Given the description of an element on the screen output the (x, y) to click on. 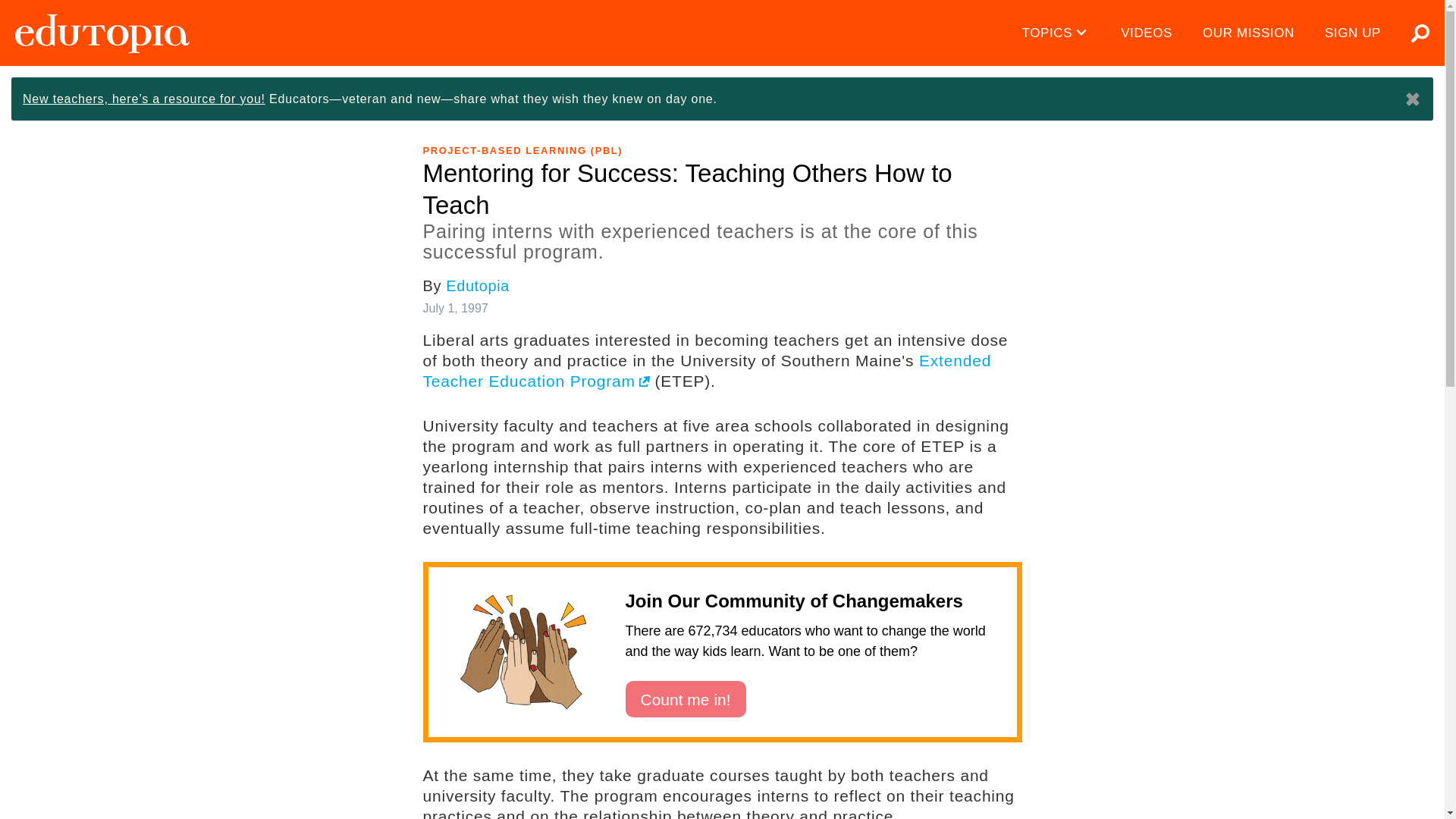
OUR MISSION (1248, 33)
VIDEOS (1146, 33)
Edutopia (101, 33)
Edutopia (477, 285)
Extended Teacher Education Program (707, 370)
TOPICS (1056, 33)
SIGN UP (1352, 33)
Count me in! (684, 698)
Edutopia (101, 33)
